Given the description of an element on the screen output the (x, y) to click on. 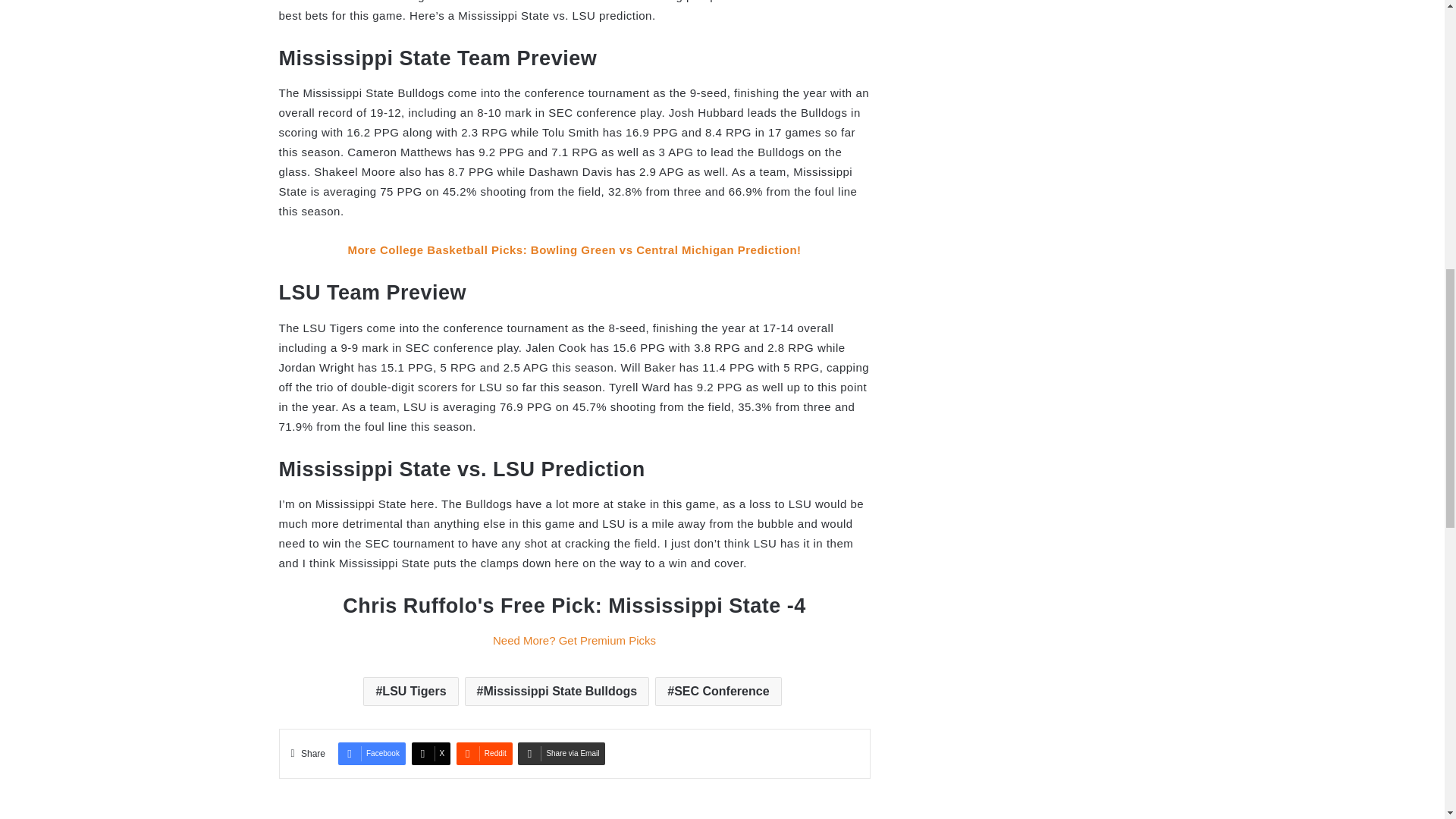
X (431, 753)
Share via Email (561, 753)
Reddit (484, 753)
Facebook (371, 753)
